Given the description of an element on the screen output the (x, y) to click on. 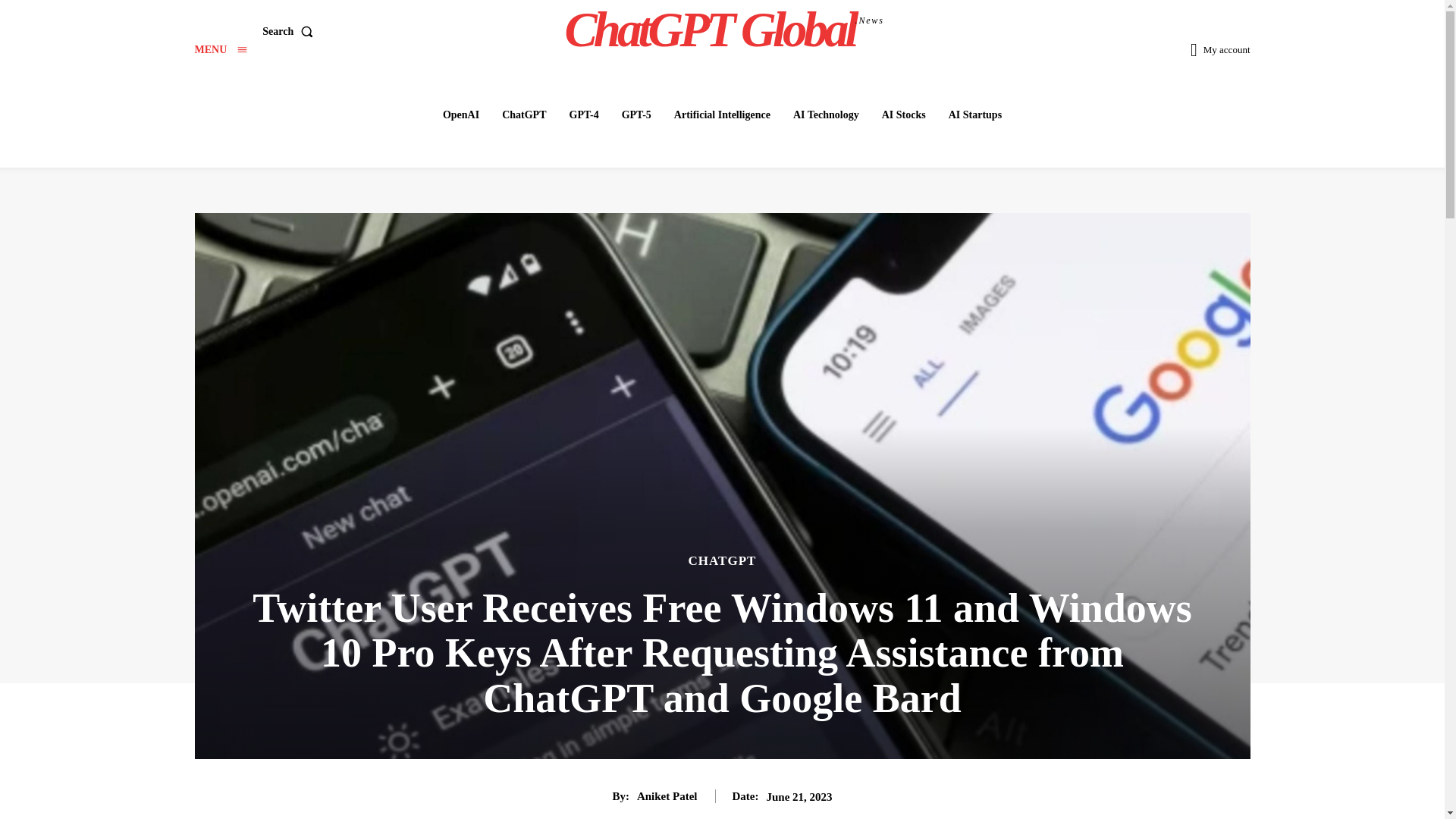
Artificial Intelligence (721, 115)
OpenAI (460, 115)
AI Technology (826, 115)
GPT-4 (724, 29)
ChatGPT (582, 115)
AI Startups (524, 115)
Menu (974, 115)
Search (220, 49)
MENU (290, 30)
